Given the description of an element on the screen output the (x, y) to click on. 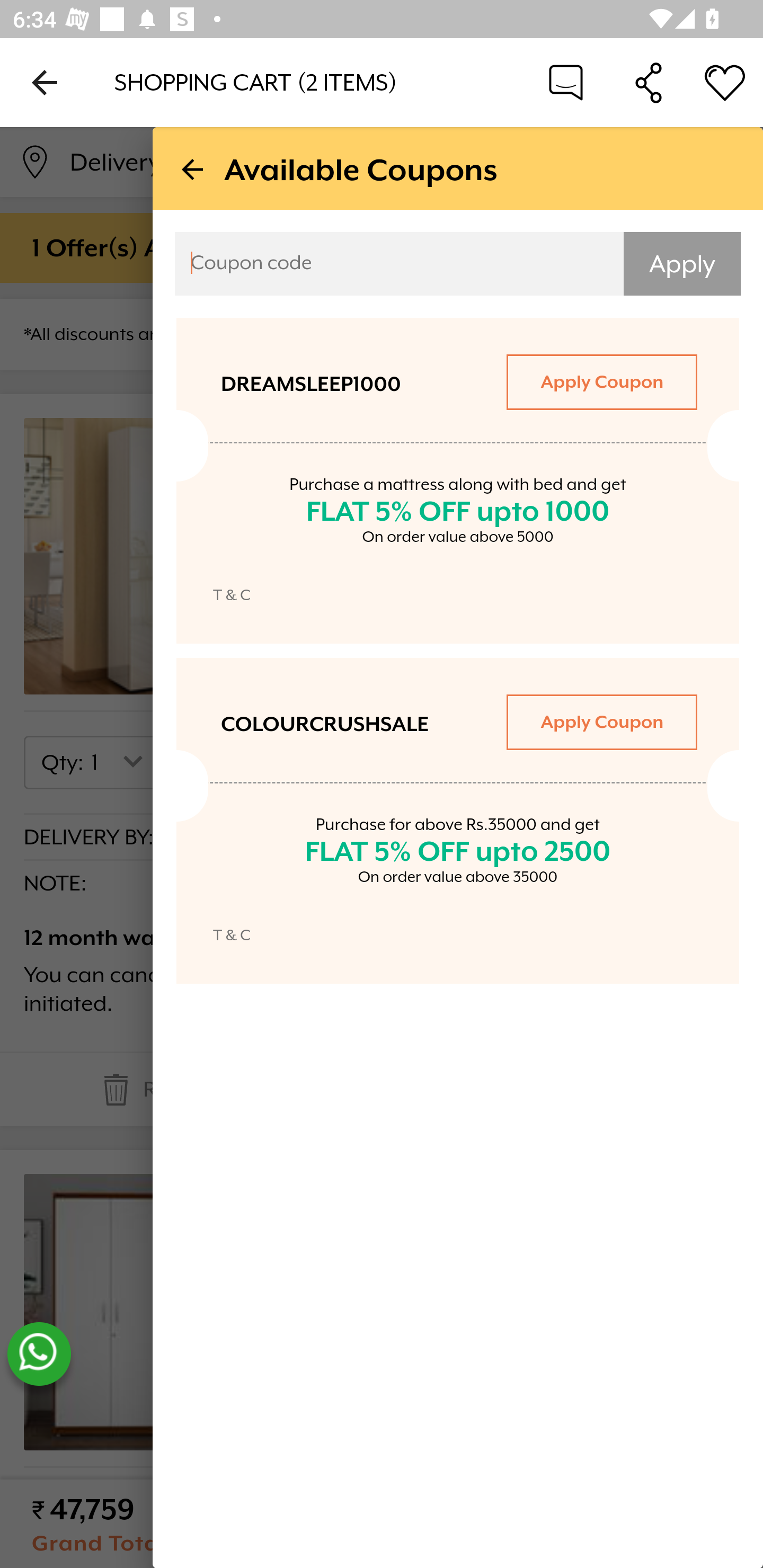
Navigate up (44, 82)
Chat (565, 81)
Share Cart (648, 81)
Wishlist (724, 81)
Apply (681, 264)
Apply Coupon (601, 381)
T & C (231, 594)
Apply Coupon (601, 721)
T & C (231, 935)
whatsapp (38, 1353)
